Given the description of an element on the screen output the (x, y) to click on. 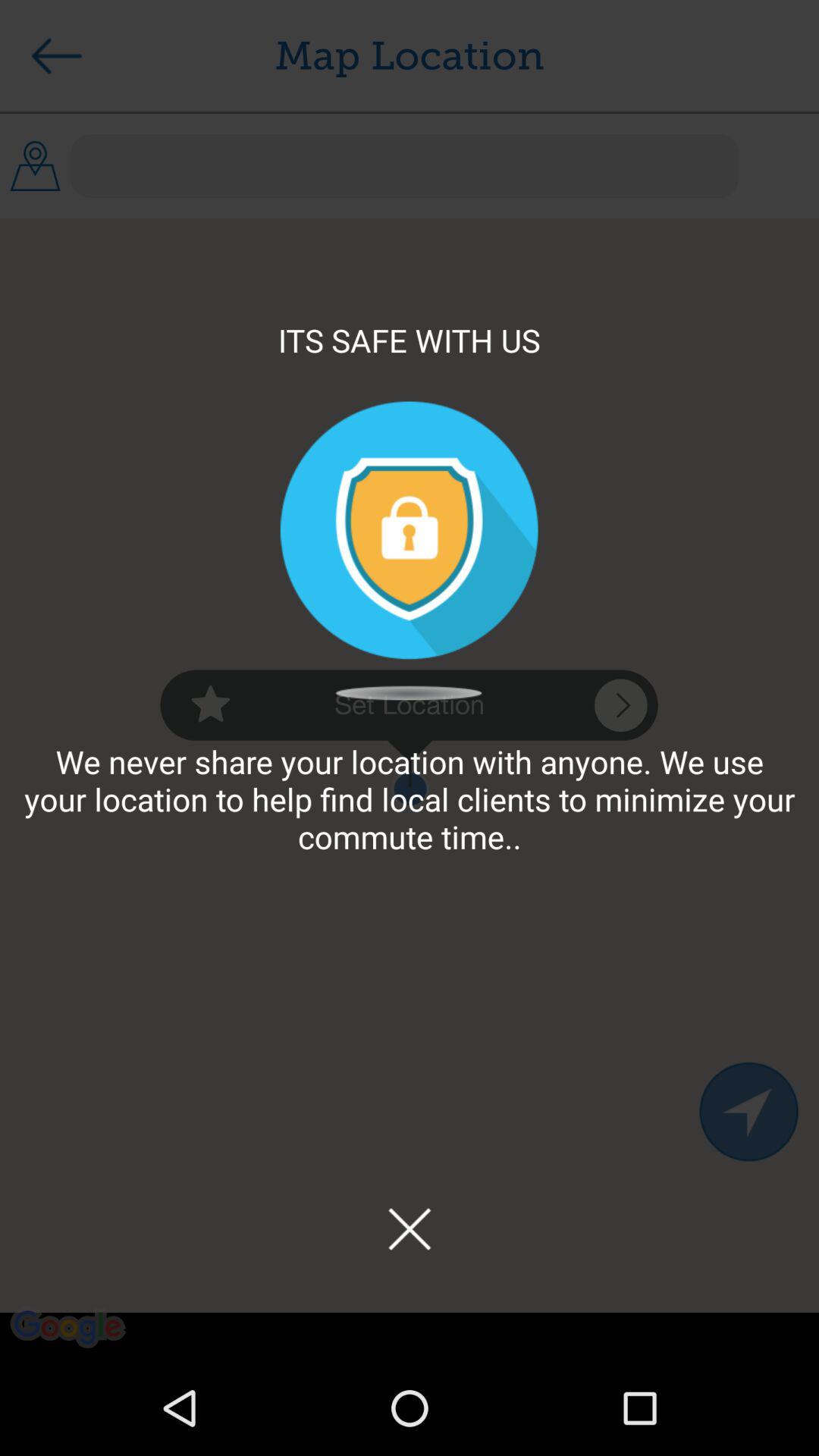
close this (409, 1228)
